Given the description of an element on the screen output the (x, y) to click on. 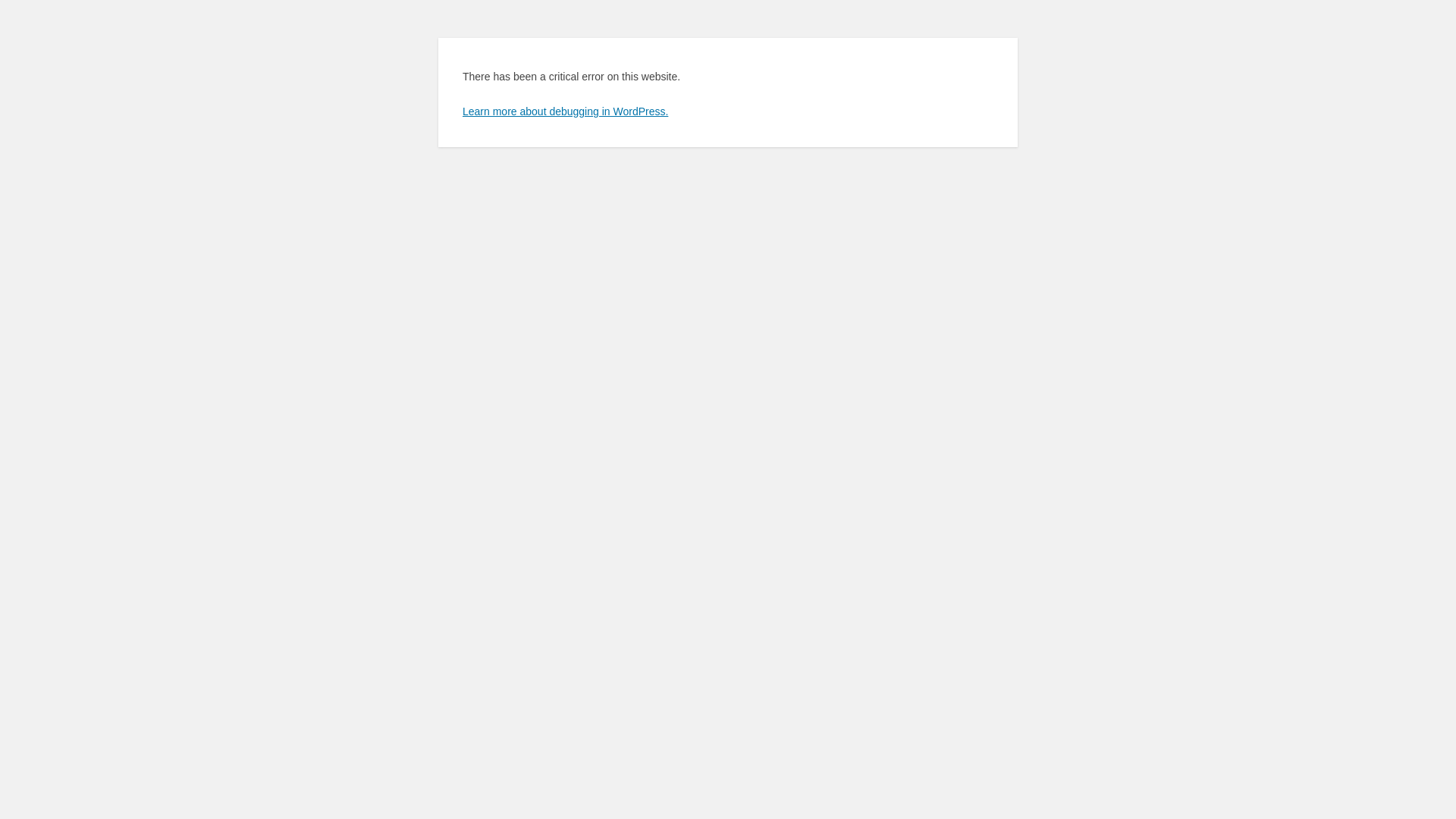
Learn more about debugging in WordPress. Element type: text (565, 111)
